Given the description of an element on the screen output the (x, y) to click on. 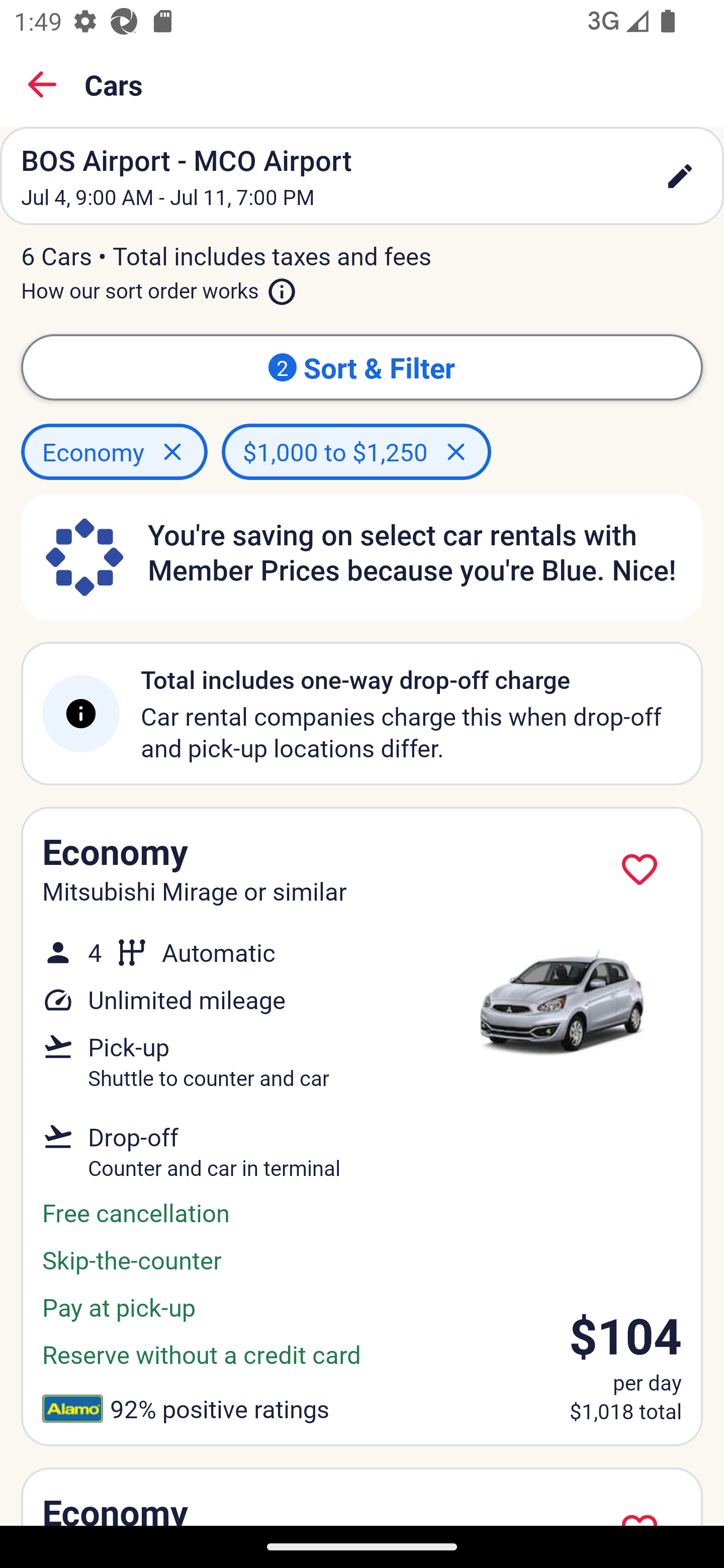
Back (42, 84)
edit (679, 175)
How our sort order works (158, 286)
2 Sort & Filter (361, 366)
